Given the description of an element on the screen output the (x, y) to click on. 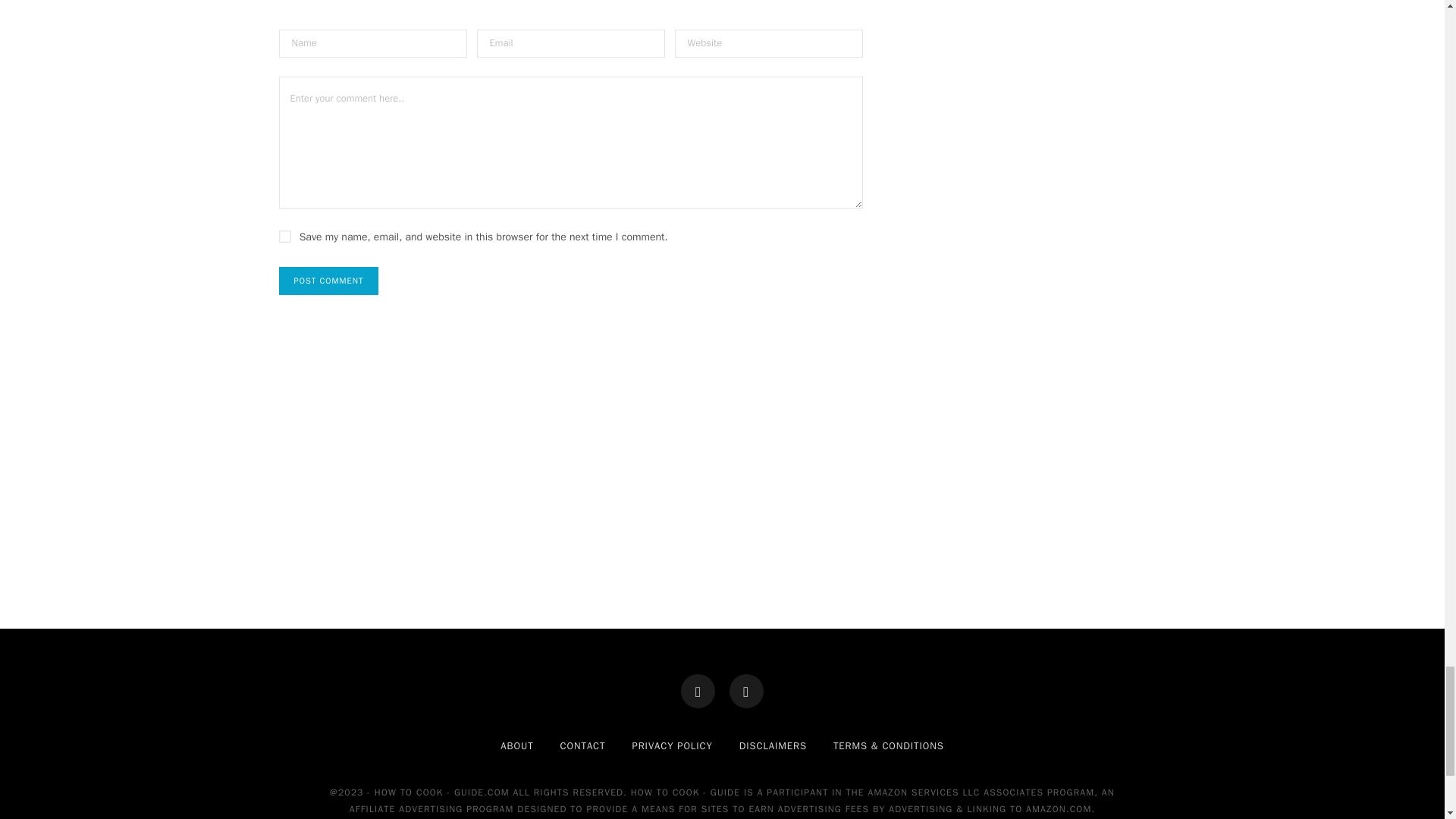
Post Comment (328, 280)
yes (285, 236)
